Given the description of an element on the screen output the (x, y) to click on. 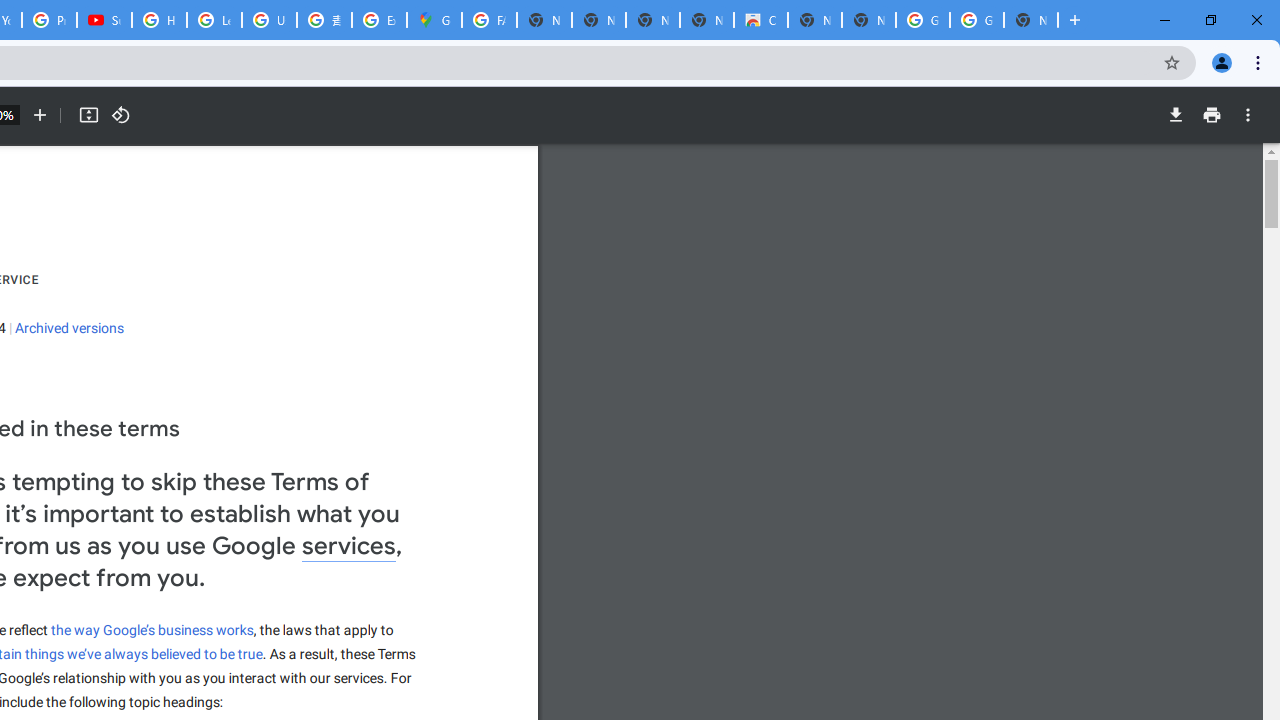
Subscriptions - YouTube (103, 20)
How Chrome protects your passwords - Google Chrome Help (158, 20)
Rotate counterclockwise (119, 115)
More actions (1247, 115)
Google Images (976, 20)
